Given the description of an element on the screen output the (x, y) to click on. 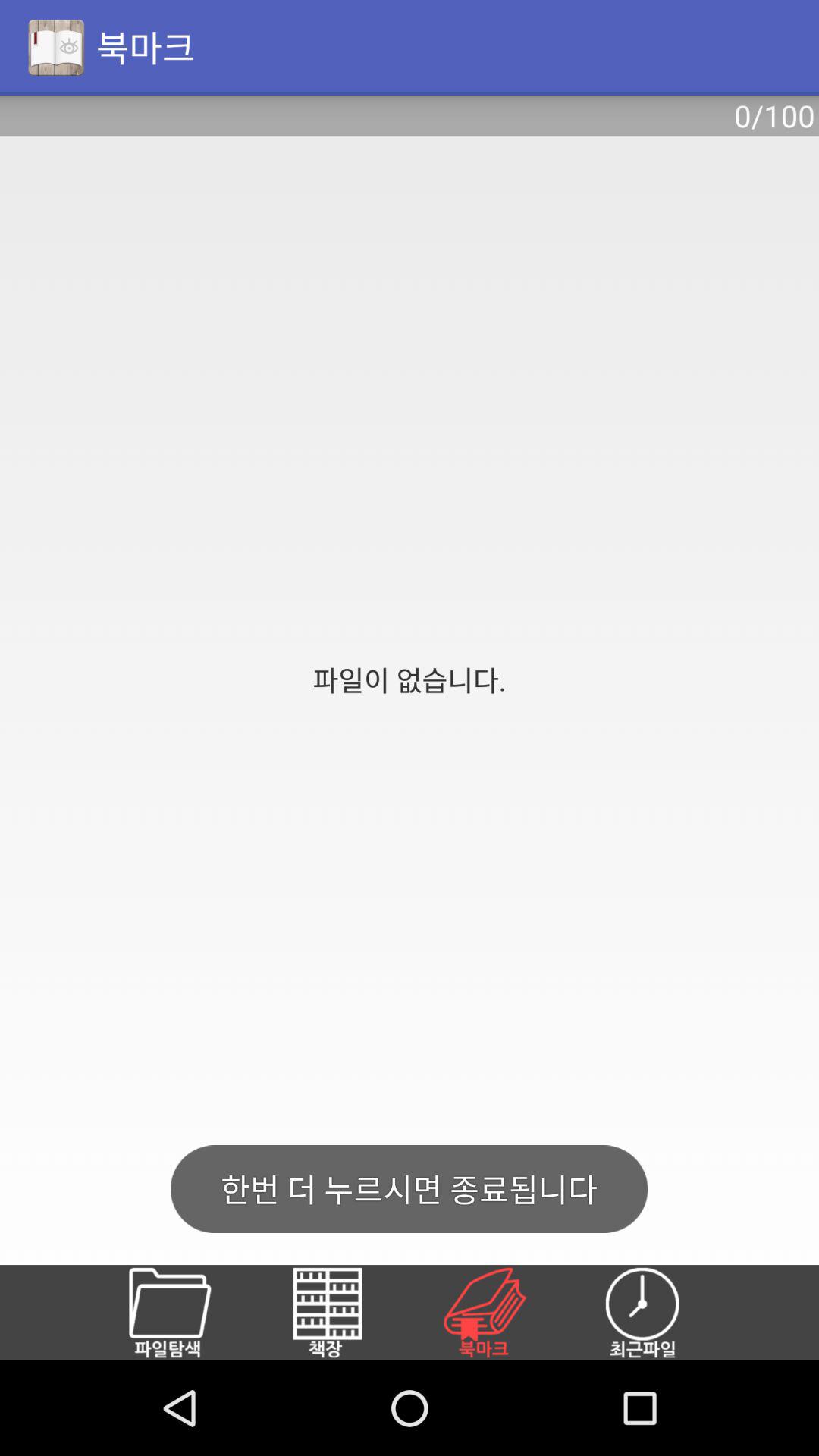
open folder (187, 1312)
